Given the description of an element on the screen output the (x, y) to click on. 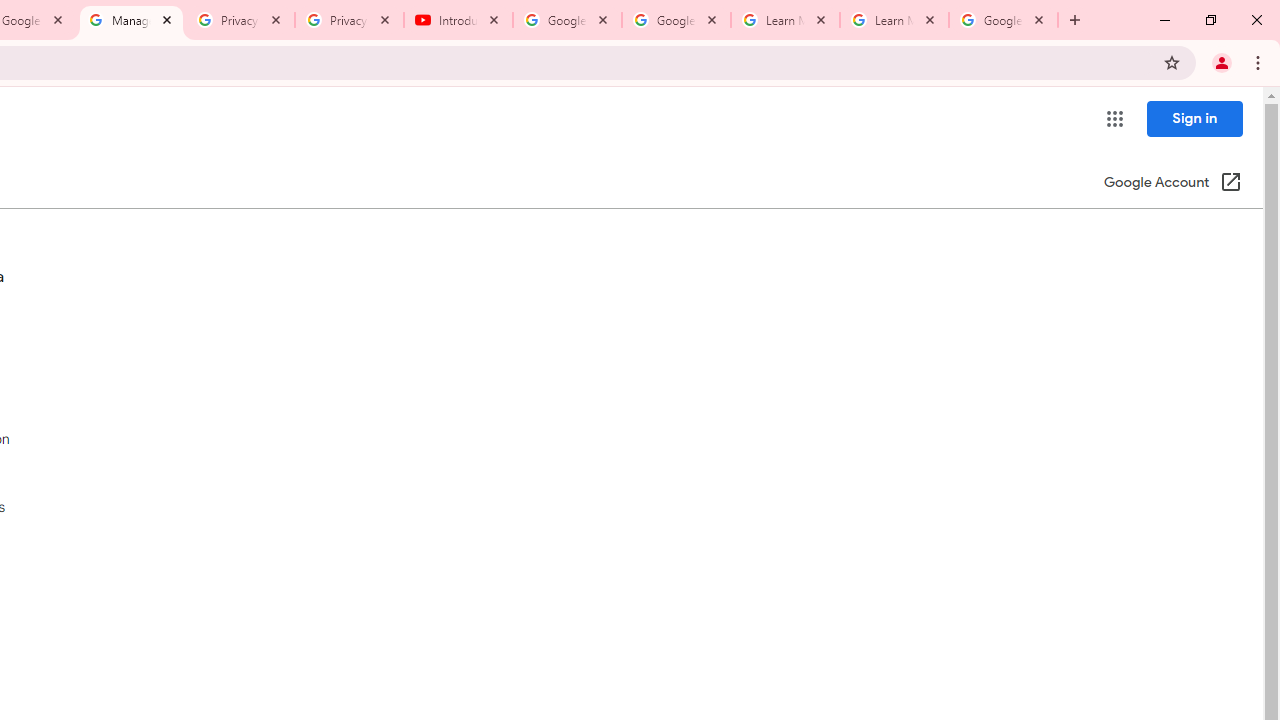
Google Account (1003, 20)
Manage your Location Sharing settings - Google Account Help (130, 20)
